Given the description of an element on the screen output the (x, y) to click on. 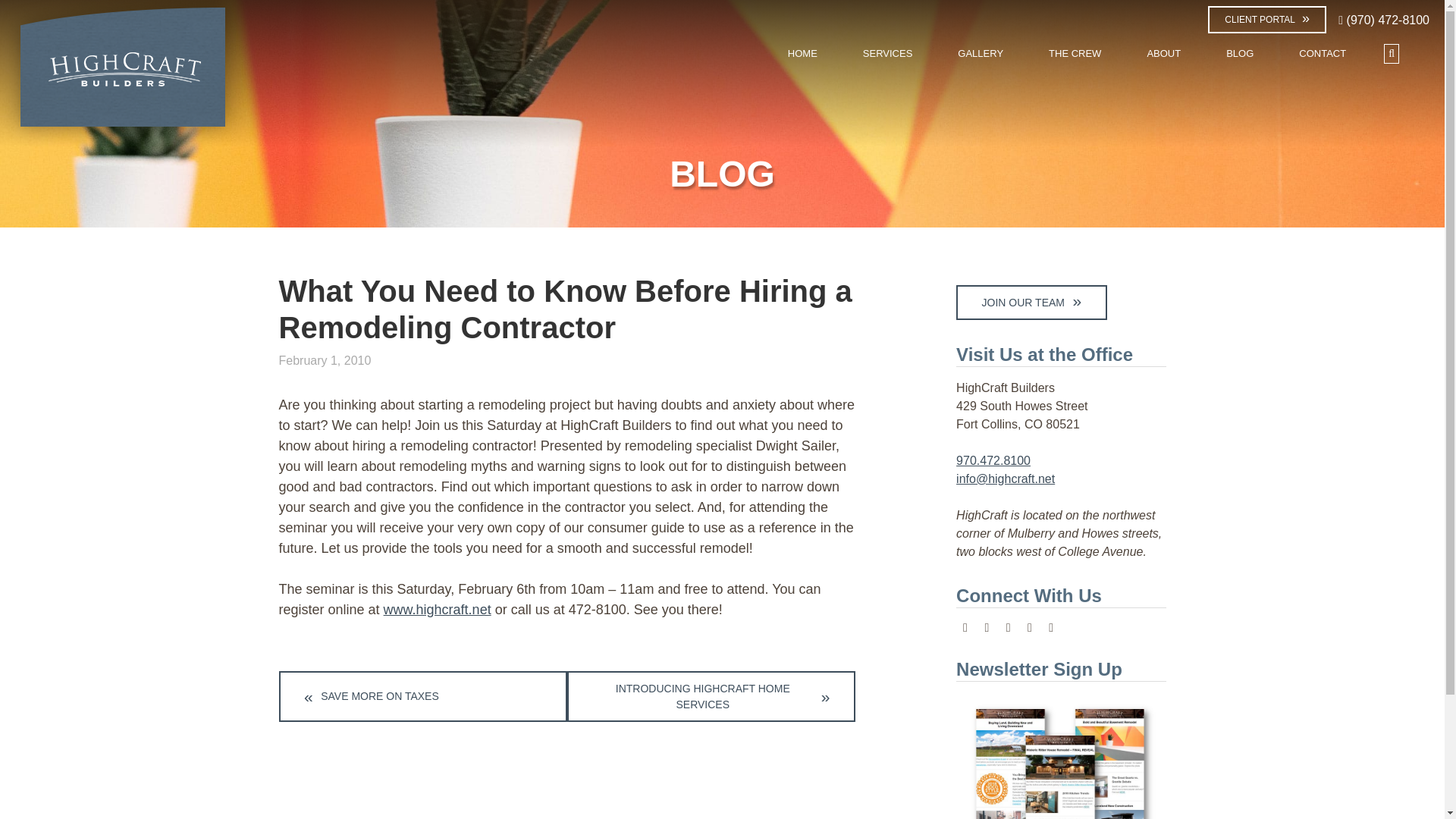
GALLERY (980, 53)
SERVICES (888, 53)
CLIENT PORTAL (1267, 19)
BLOG (1240, 53)
ABOUT (1164, 53)
HighCraft (123, 73)
THE CREW (1075, 53)
CONTACT (1322, 53)
HOME (802, 53)
